Given the description of an element on the screen output the (x, y) to click on. 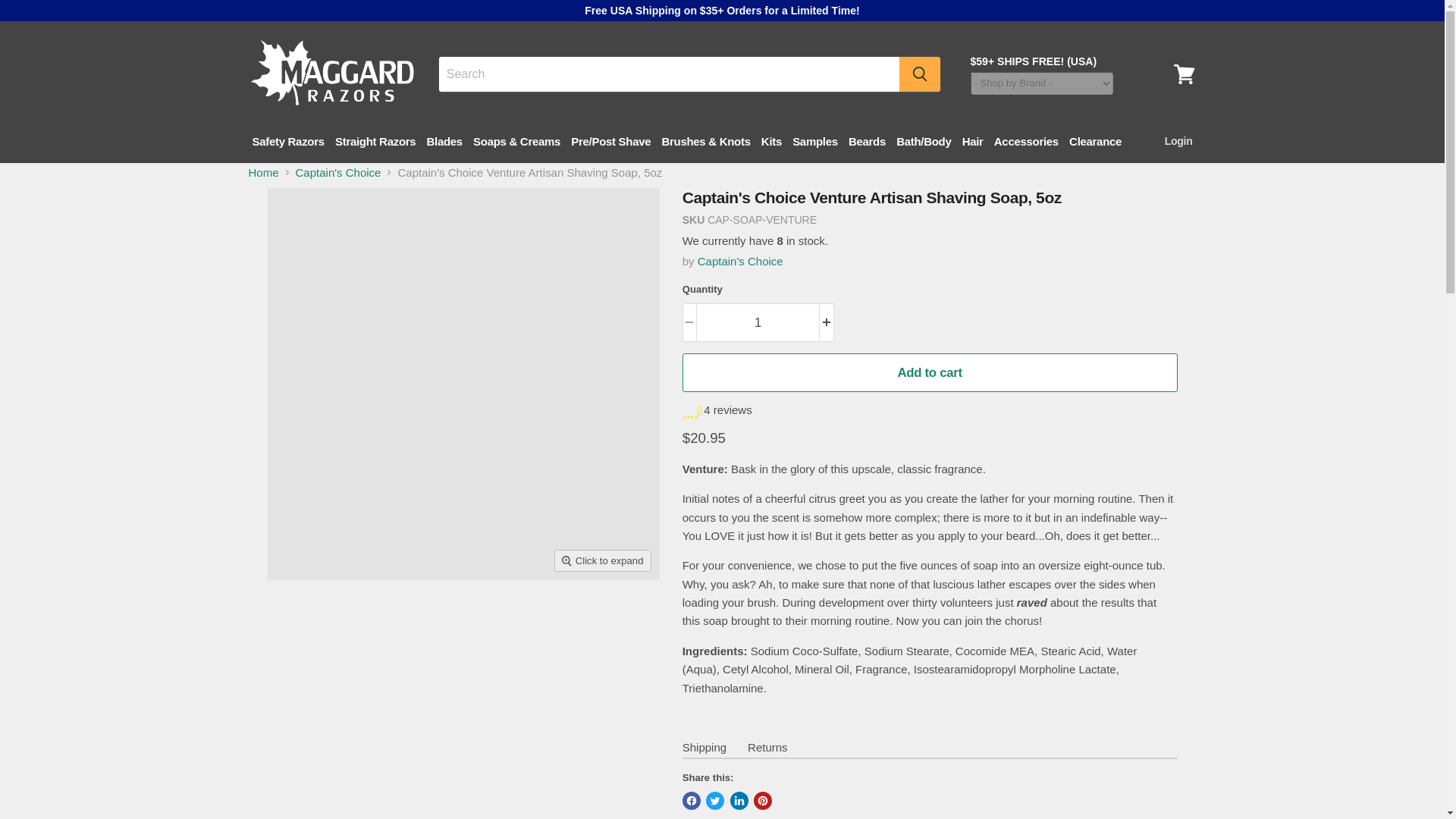
Beards (866, 141)
Clearance (1095, 141)
Blades (444, 141)
1 (757, 322)
Samples (815, 141)
View cart (1184, 73)
Captain's Choice (740, 260)
Kits (771, 141)
Straight Razors (375, 141)
Accessories (1026, 141)
